Given the description of an element on the screen output the (x, y) to click on. 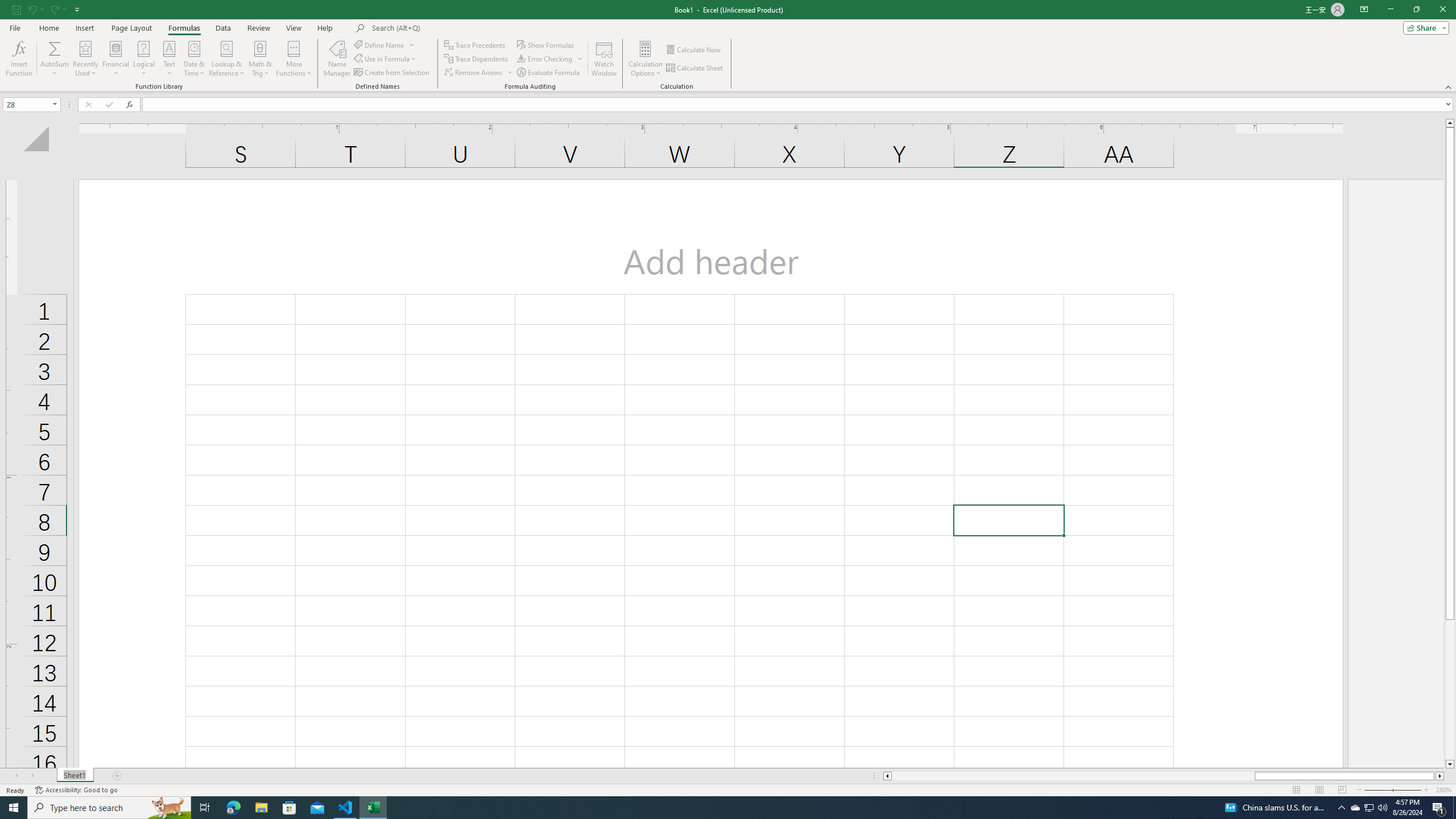
Remove Arrows (478, 72)
Define Name (384, 44)
Calculate Now (694, 49)
Name Manager (336, 58)
Text (169, 58)
